Given the description of an element on the screen output the (x, y) to click on. 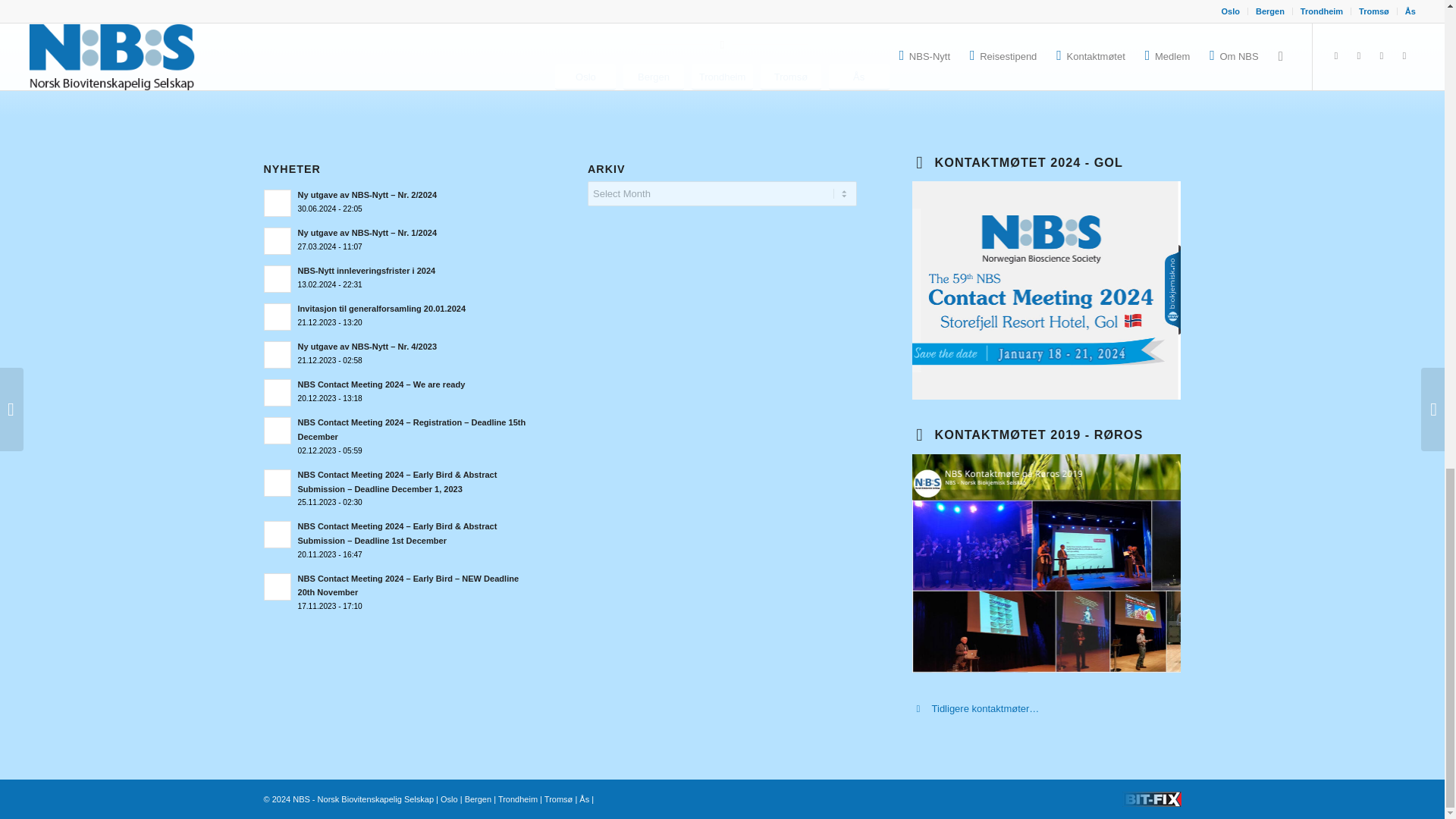
Read: Invitasjon til generalforsamling 20.01.2024 (277, 316)
Read: NBS-Nytt innleveringsfrister i 2024 (277, 278)
Read: NBS-Nytt innleveringsfrister i 2024 (366, 270)
Read: Invitasjon til generalforsamling 20.01.2024 (381, 307)
